Given the description of an element on the screen output the (x, y) to click on. 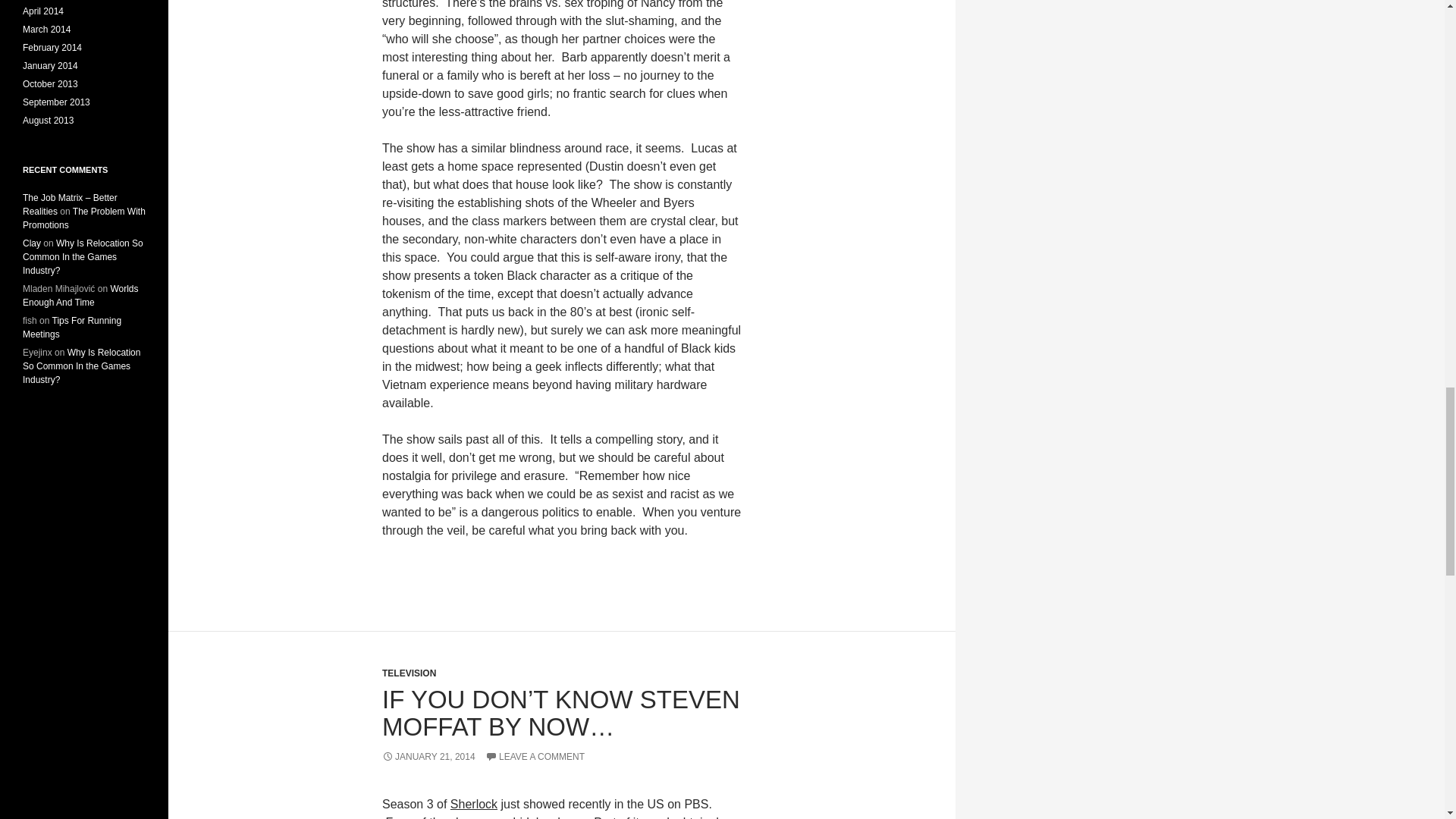
TELEVISION (408, 673)
LEAVE A COMMENT (534, 756)
JANUARY 21, 2014 (428, 756)
